Given the description of an element on the screen output the (x, y) to click on. 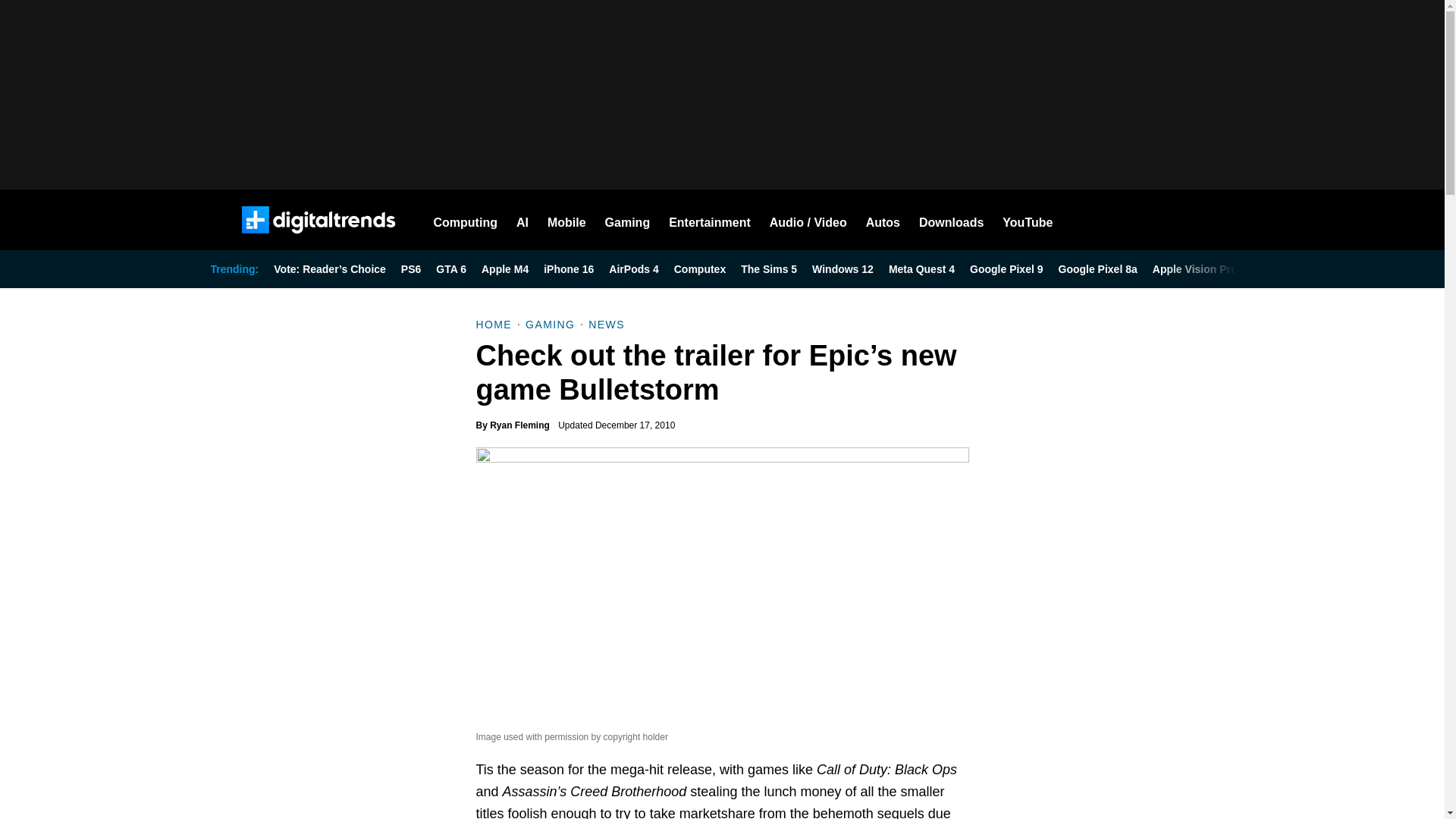
Entertainment (709, 219)
Downloads (951, 219)
Computing (465, 219)
